Given the description of an element on the screen output the (x, y) to click on. 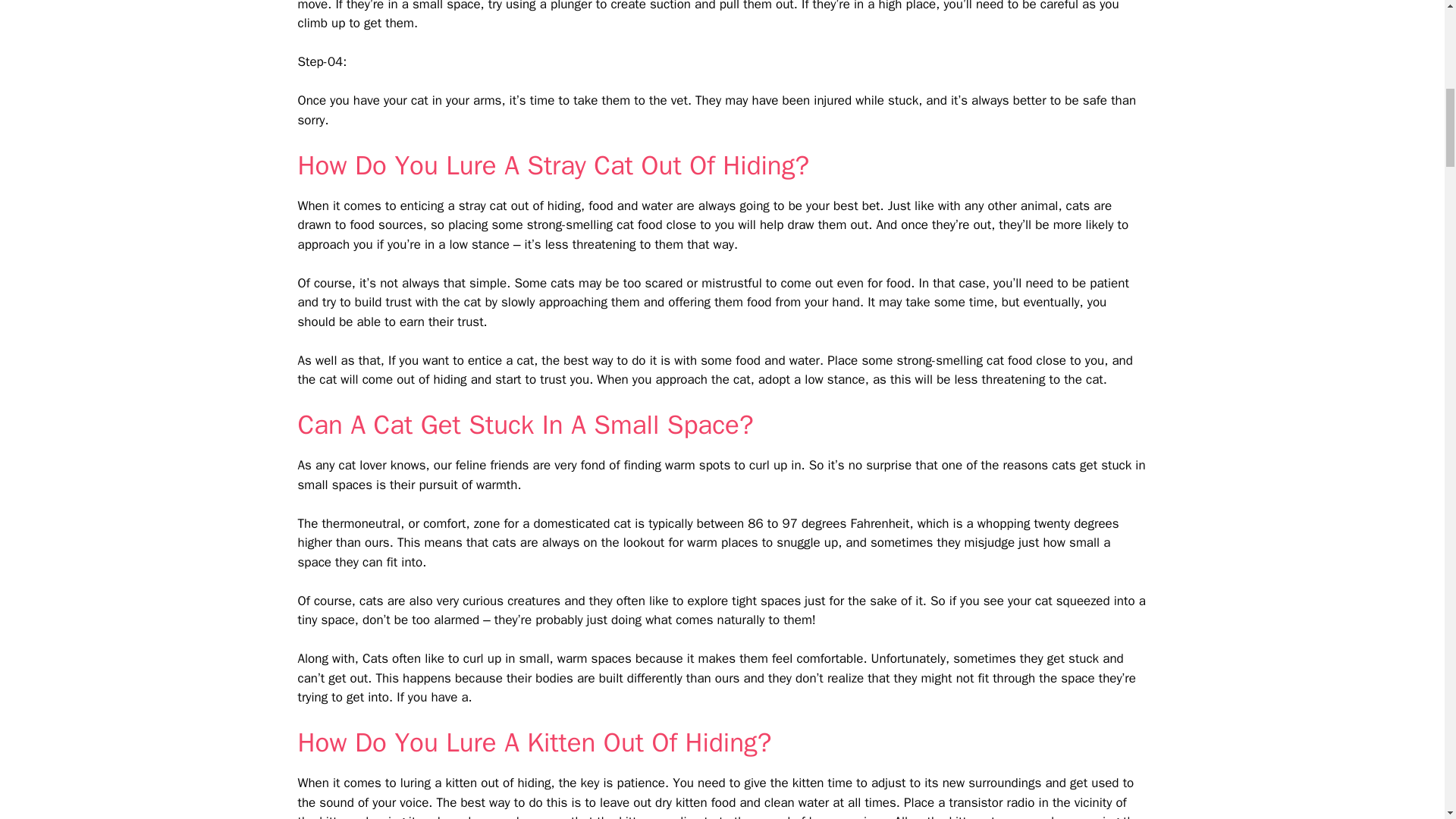
Scroll back to top (1406, 720)
